Given the description of an element on the screen output the (x, y) to click on. 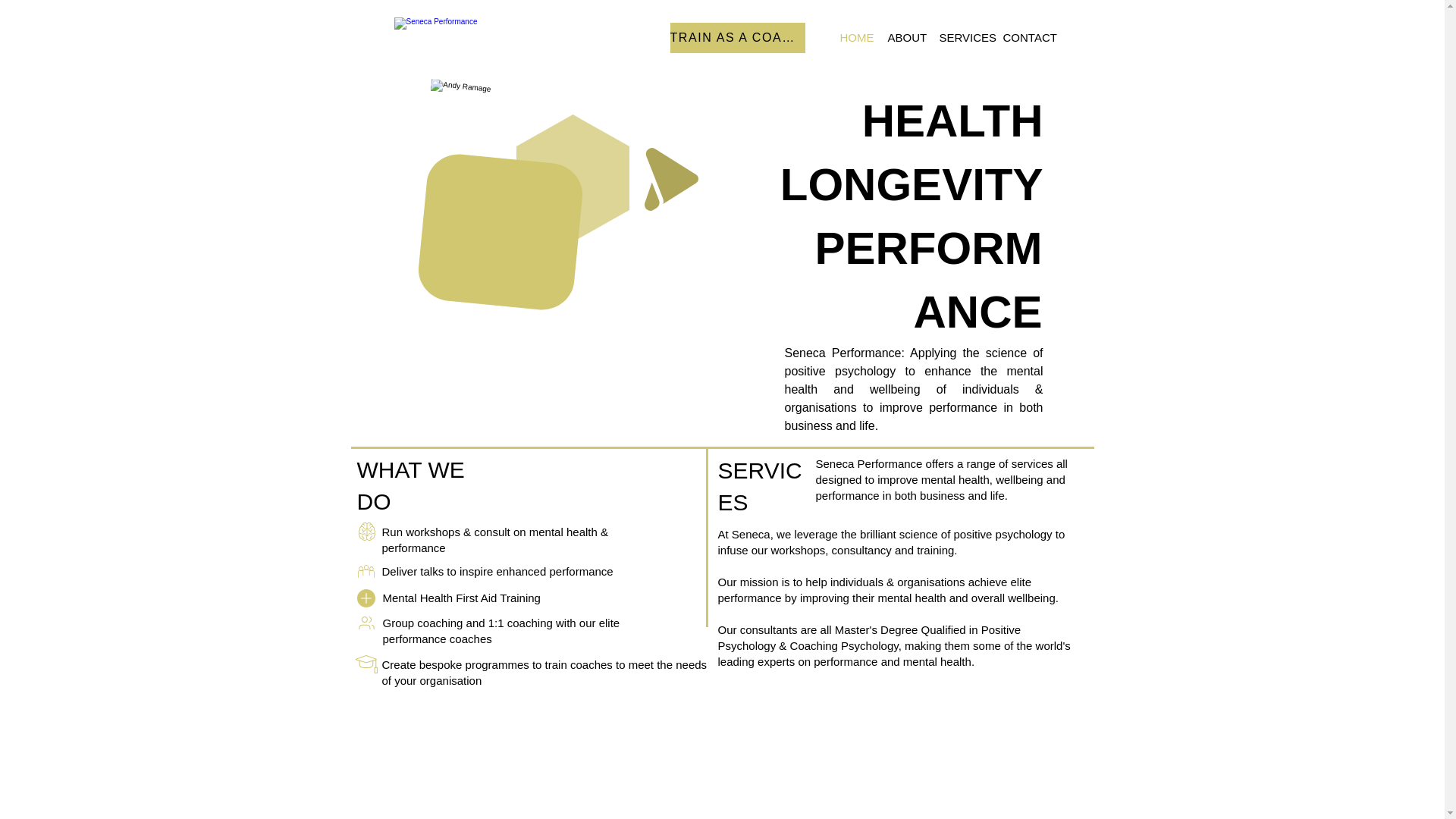
TRAIN AS A COACH (737, 37)
HOME (852, 37)
SERVICES (959, 37)
CONTACT (1022, 37)
SERVICES (759, 486)
ABOUT (902, 37)
